Given the description of an element on the screen output the (x, y) to click on. 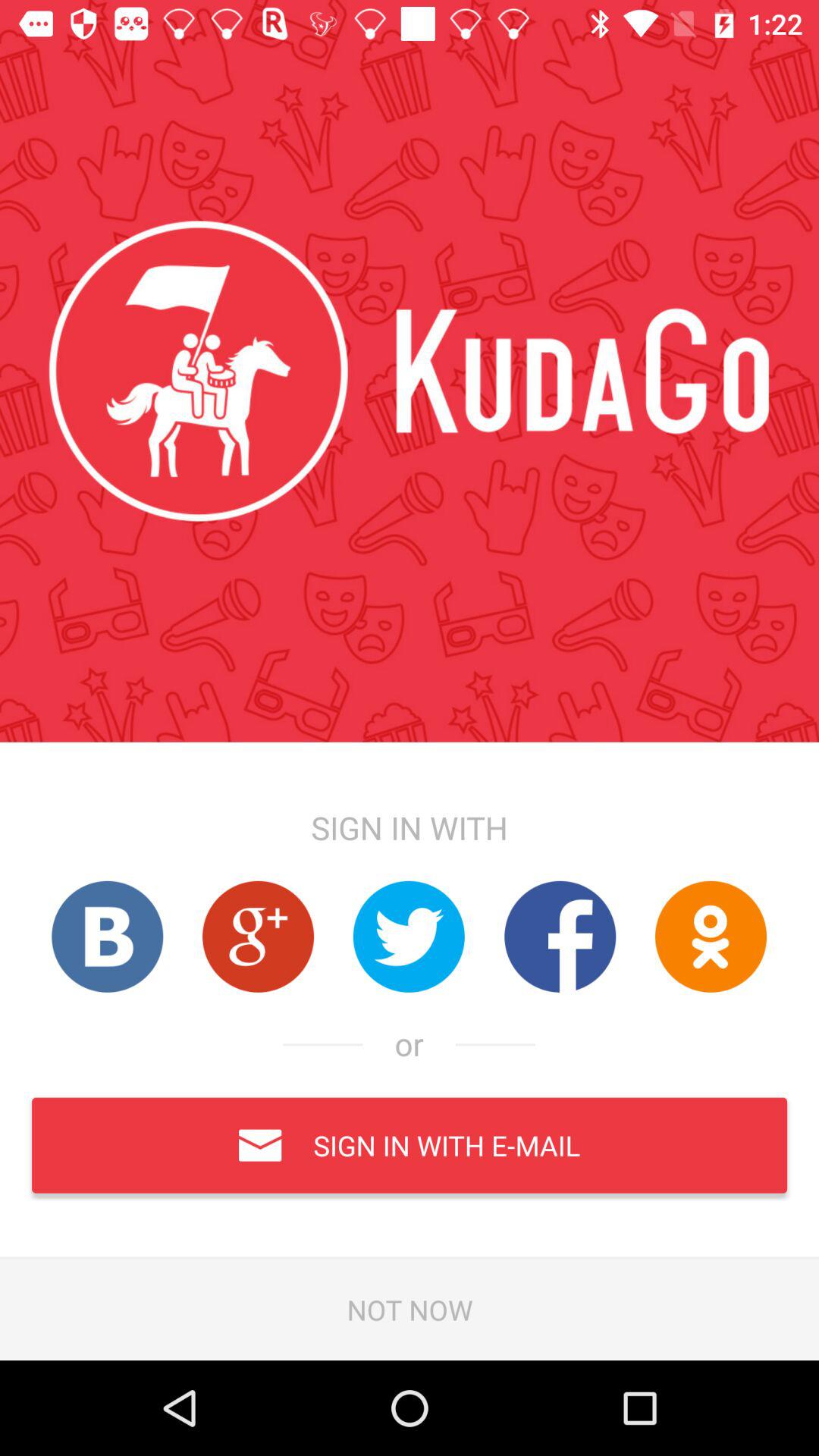
sign in with twitter (408, 936)
